Given the description of an element on the screen output the (x, y) to click on. 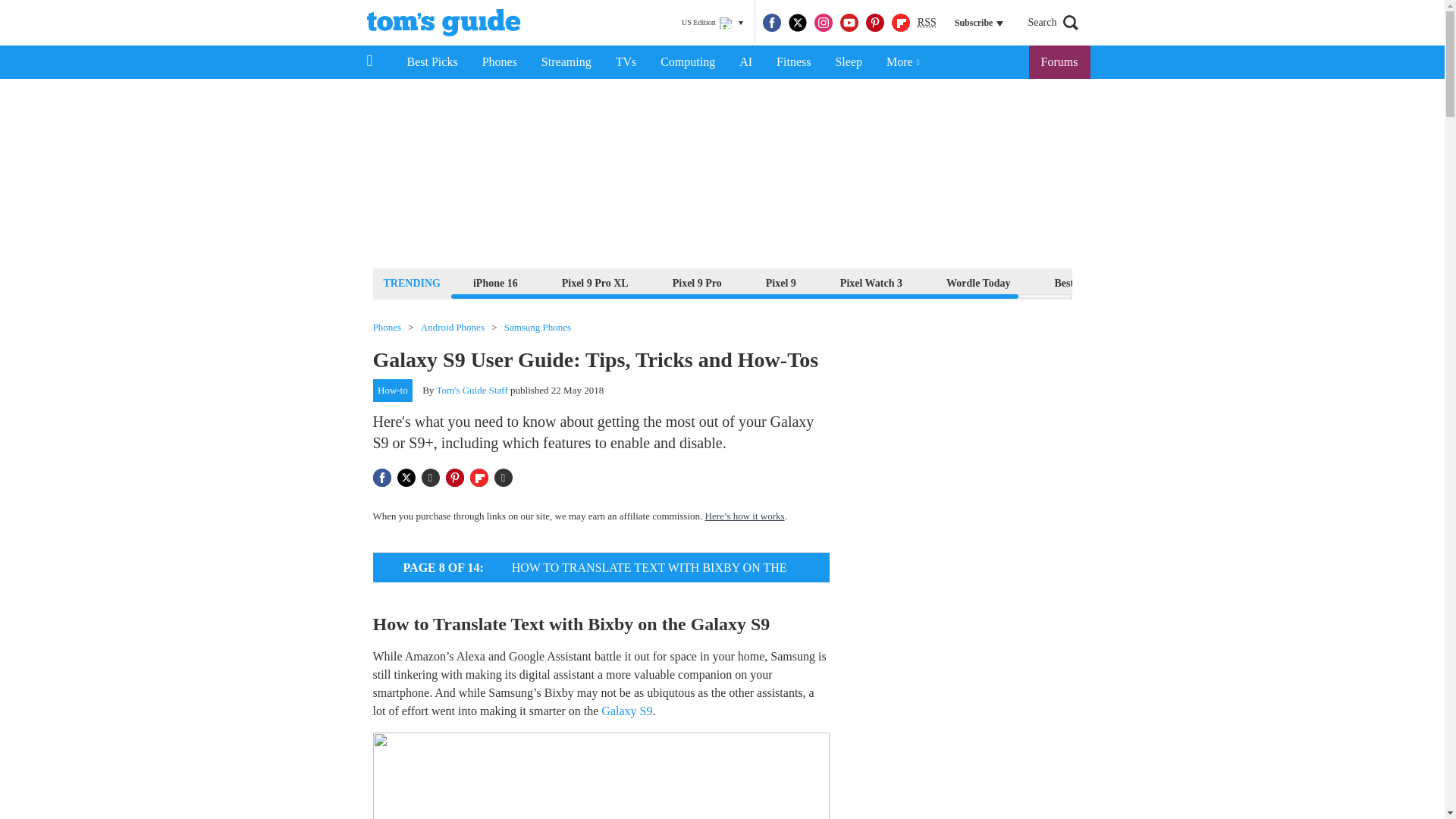
Phones (499, 61)
Streaming (566, 61)
RSS (926, 22)
US Edition (712, 22)
Fitness (793, 61)
Really Simple Syndication (926, 21)
Sleep (848, 61)
Best Picks (431, 61)
TVs (626, 61)
Computing (686, 61)
